Given the description of an element on the screen output the (x, y) to click on. 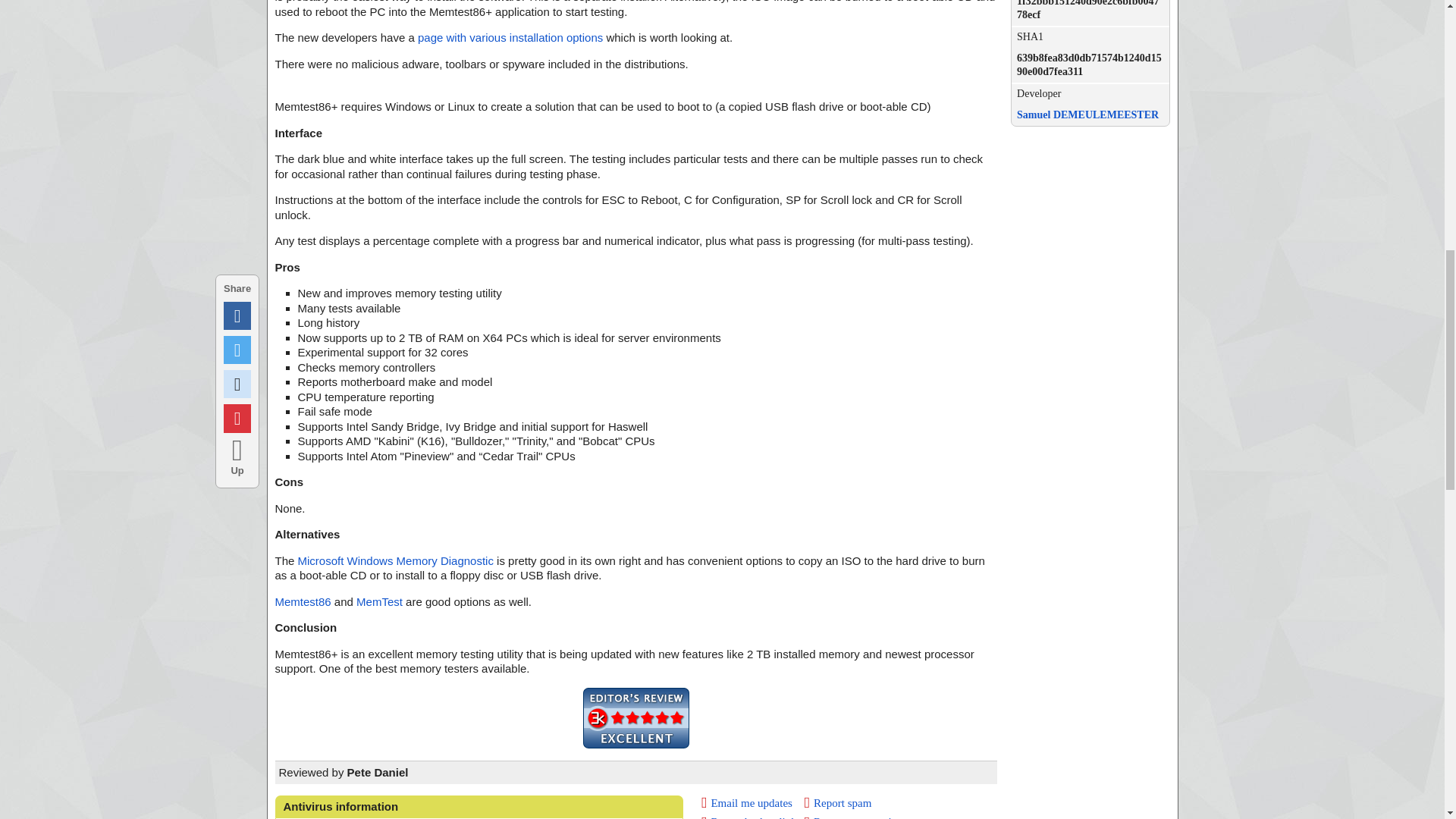
MemTest (379, 601)
Memtest86 (302, 601)
Report spam (838, 802)
Microsoft Windows Memory Diagnostic (395, 560)
Report broken link (748, 817)
Email me updates (746, 802)
page with various installation options (509, 37)
Report new version (853, 817)
